Given the description of an element on the screen output the (x, y) to click on. 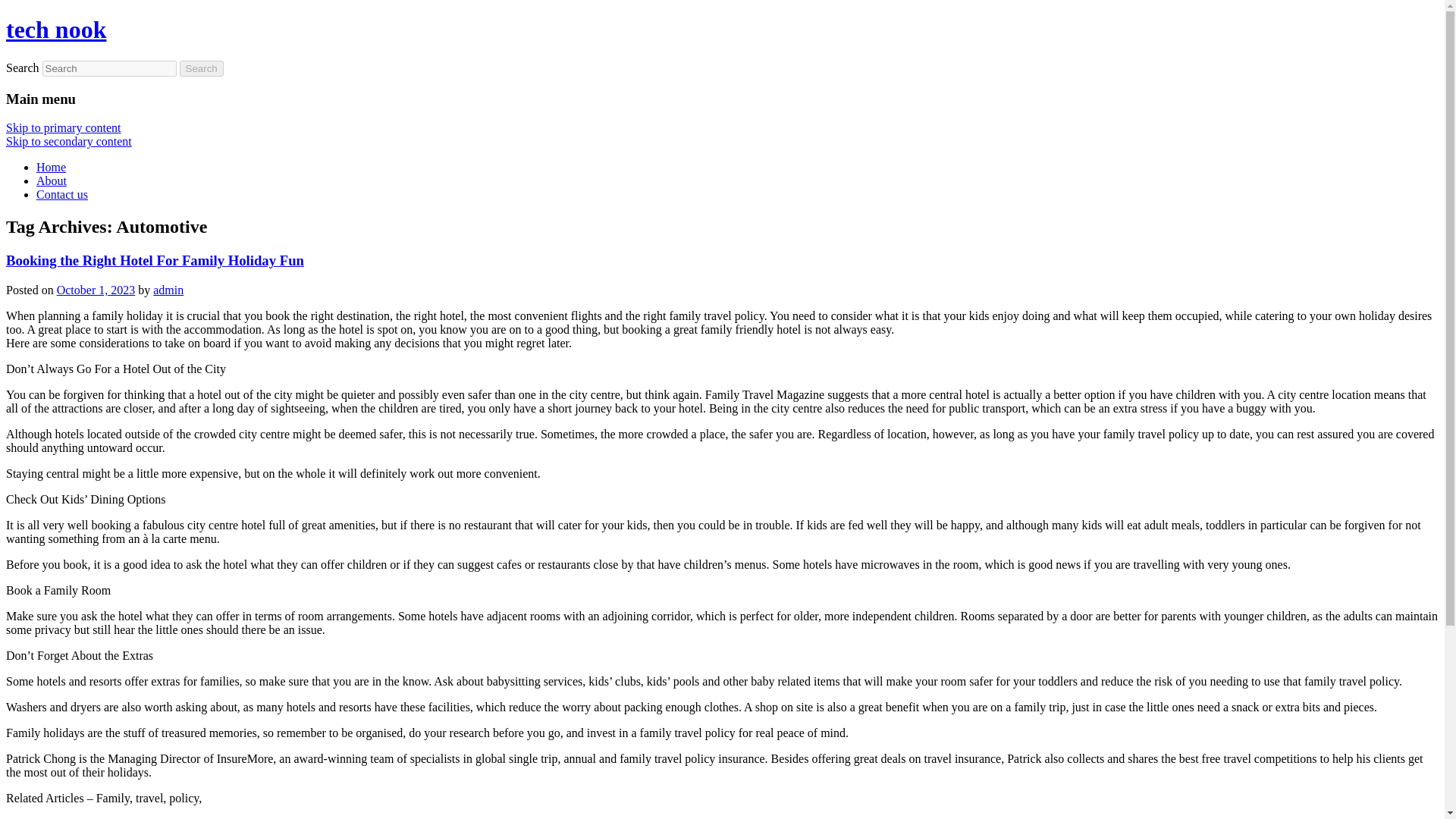
About (51, 180)
Education (778, 818)
Electronics (836, 818)
AffiliatePrograms (317, 818)
Home (50, 166)
Advertising (199, 818)
Contact us (61, 194)
Fitness (1063, 818)
Advice (249, 818)
Booking the Right Hotel For Family Holiday Fun (154, 260)
Computers (652, 818)
Home (50, 166)
Blogs (444, 818)
6:48 pm (95, 289)
Skip to secondary content (68, 141)
